Given the description of an element on the screen output the (x, y) to click on. 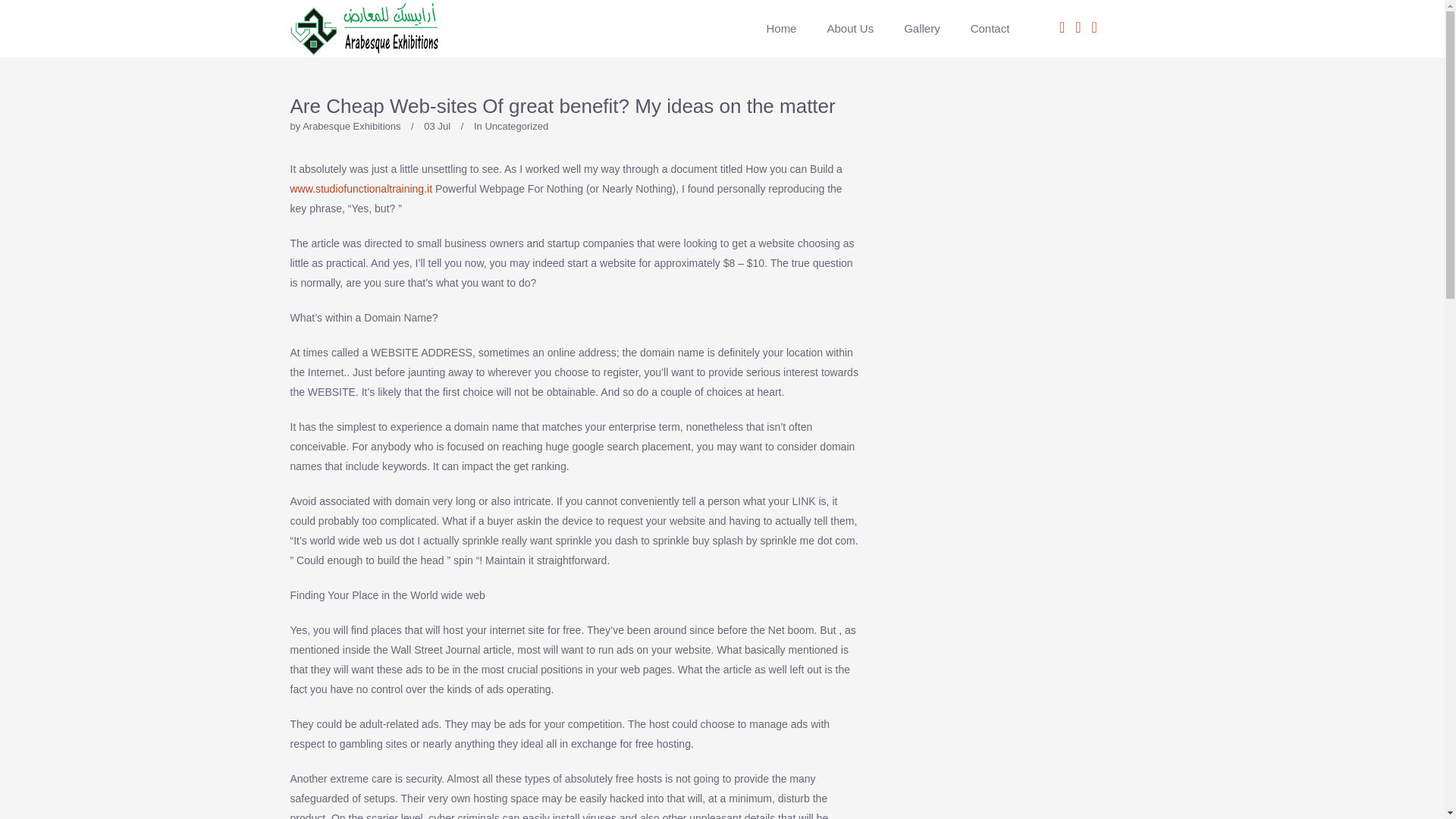
Gallery (921, 28)
Uncategorized (516, 125)
About Us (849, 28)
Arabesque Exhibitions (351, 125)
Contact (982, 28)
www.studiofunctionaltraining.it (360, 188)
Posts by Arabesque Exhibitions (351, 125)
